Given the description of an element on the screen output the (x, y) to click on. 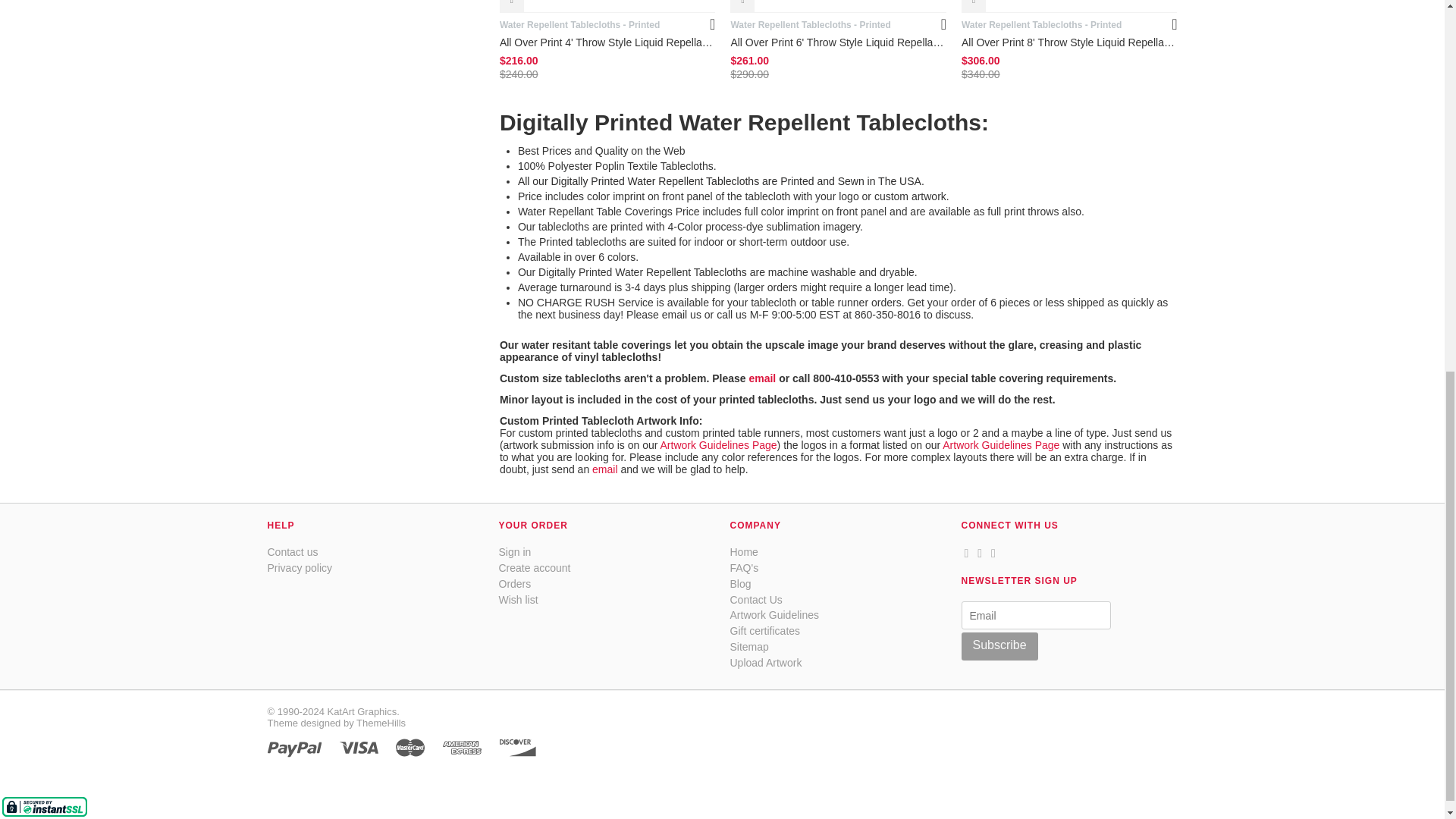
All Over Print 4' Throw Style Liquid Repellant Tablecloth (607, 42)
Fully Dye Sublimated 4' Water Resistant Throw (607, 6)
Fully Dye Sublimated 6' Water Resistant Throw (838, 6)
